Given the description of an element on the screen output the (x, y) to click on. 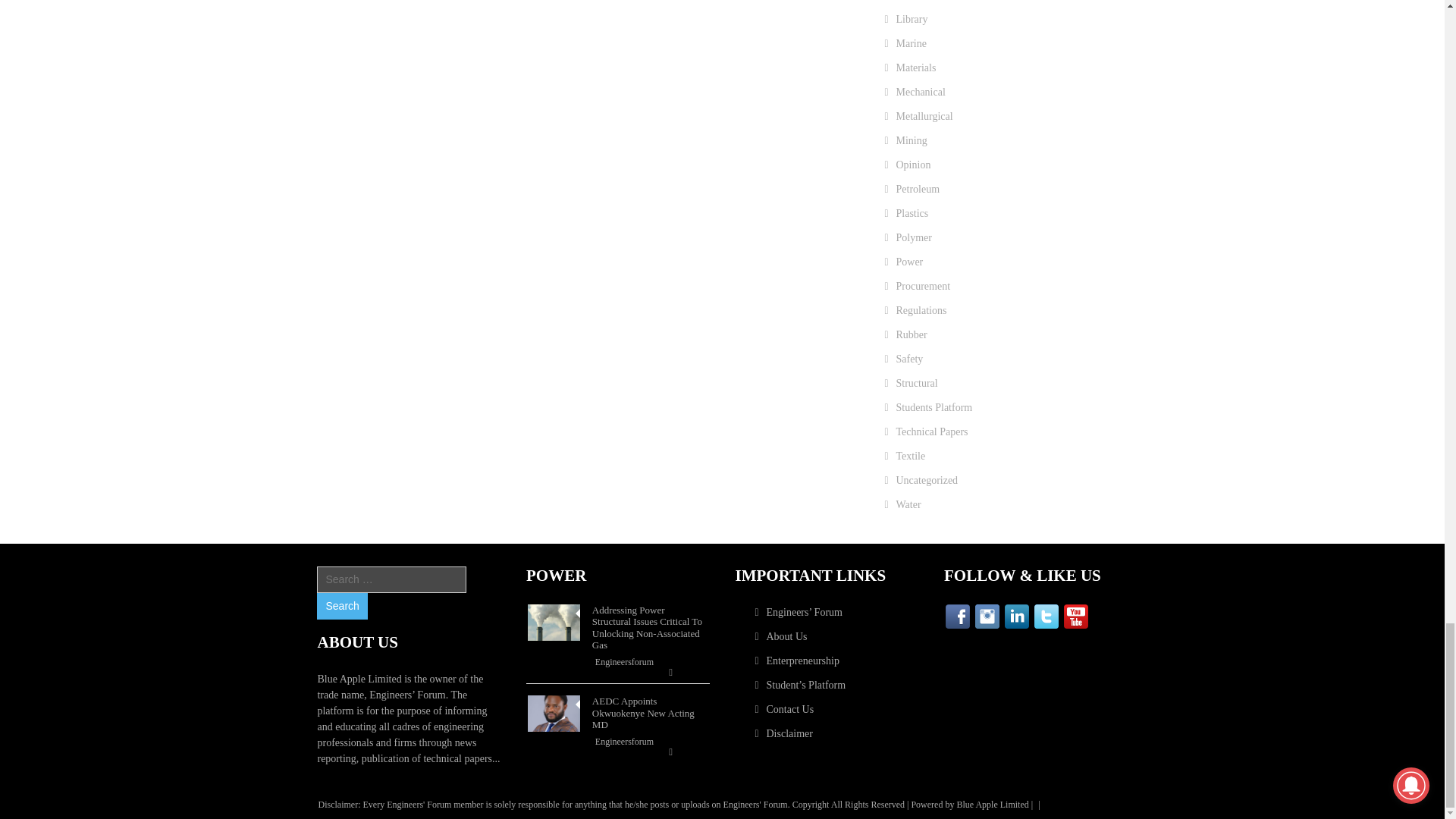
AEDC Appoints Okwuokenye New Acting MD (552, 713)
Search (341, 605)
AEDC Appoints Okwuokenye New Acting MD (553, 713)
Search (341, 605)
